Given the description of an element on the screen output the (x, y) to click on. 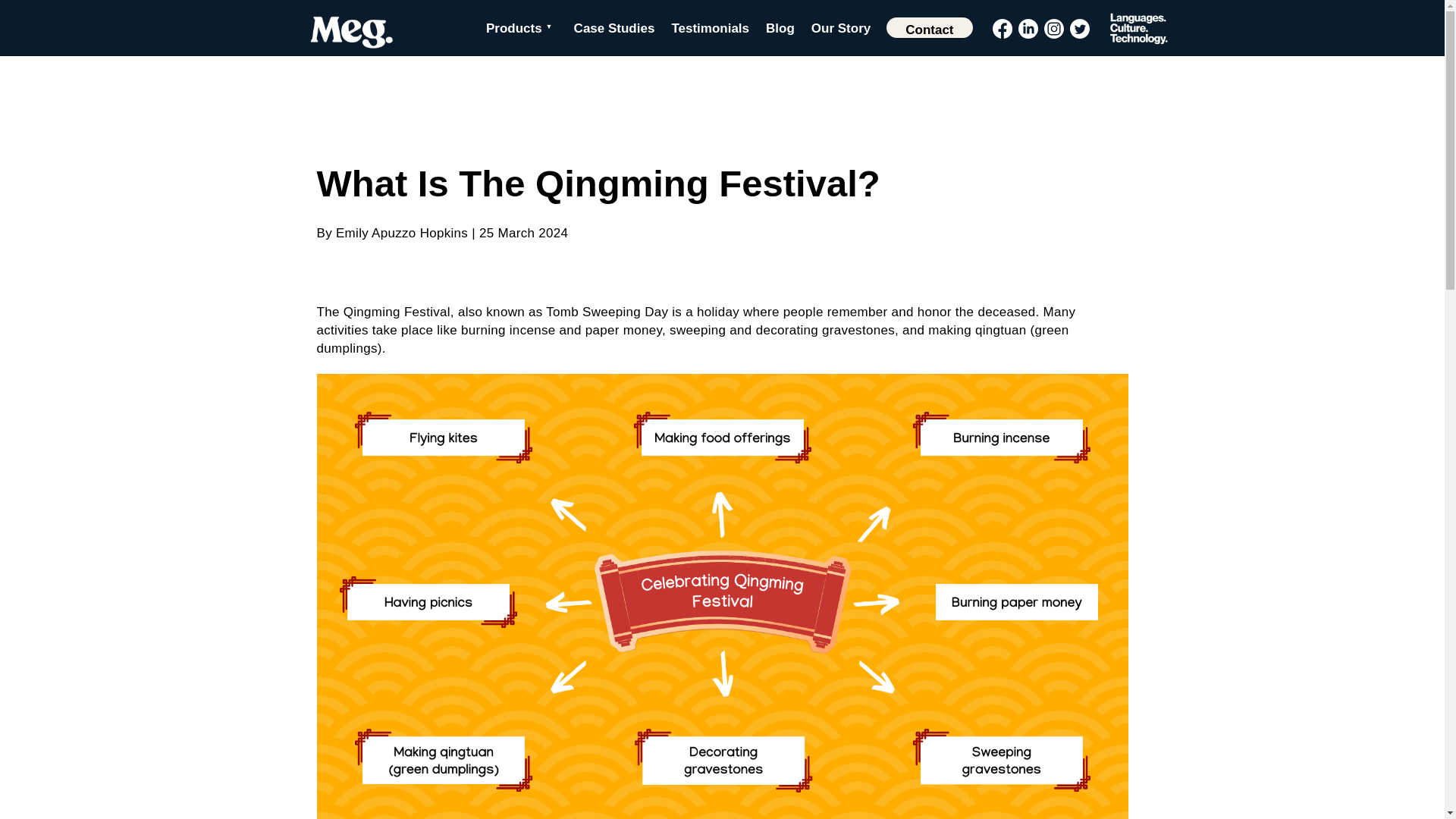
Our Story (840, 28)
Twitter (1078, 28)
Instagram (1052, 28)
Twitter (1078, 28)
LinkedIn (1026, 28)
Instagram (1052, 28)
Case Studies (614, 28)
Facebook (1001, 28)
Products (521, 28)
LinkedIn (1026, 28)
Blog (779, 28)
Facebook (1001, 28)
Contact (929, 27)
Testimonials (710, 28)
